Given the description of an element on the screen output the (x, y) to click on. 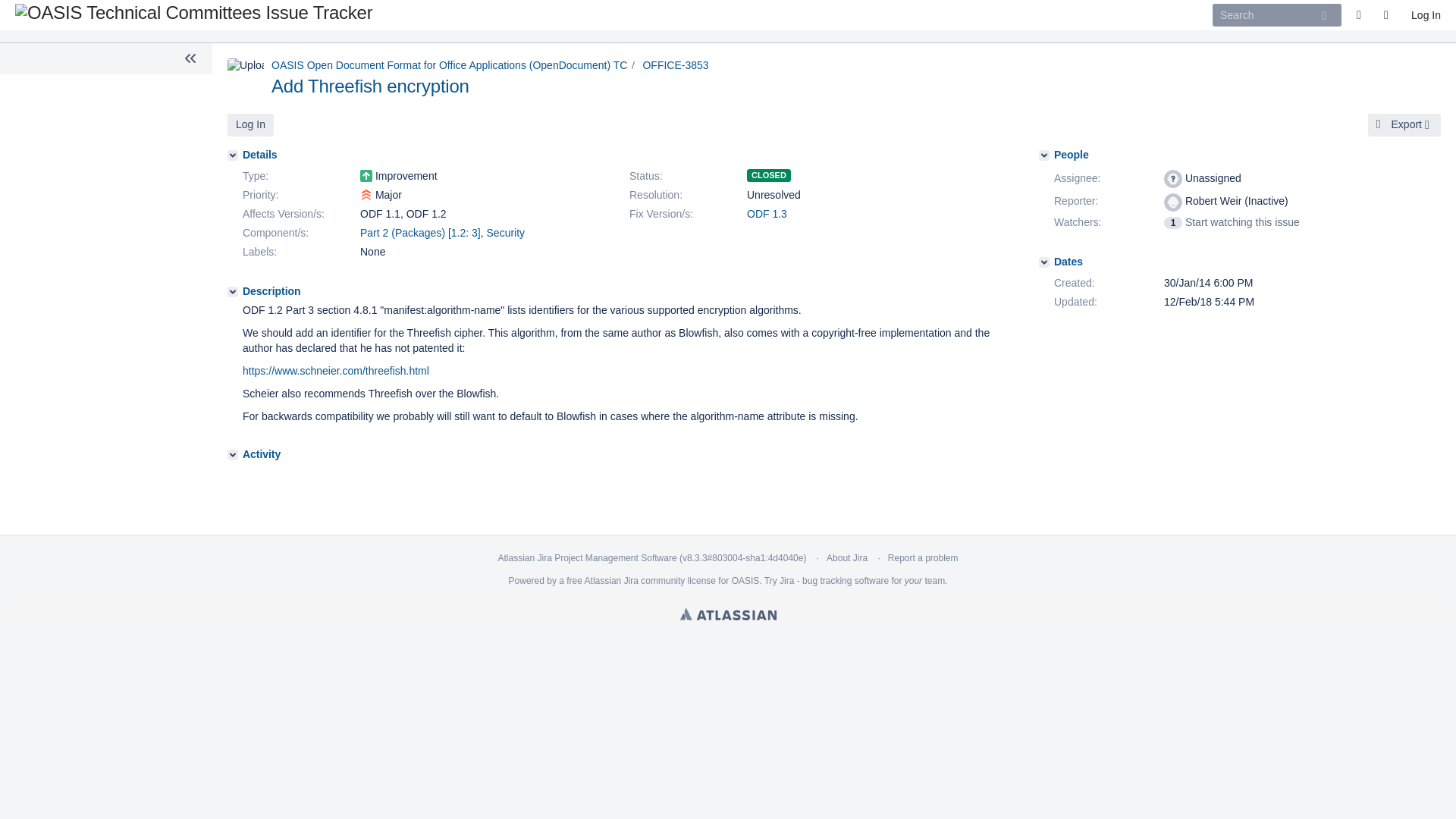
Help (1389, 15)
bug tracking software (845, 580)
Report a problem (923, 557)
ODF 1.3  (766, 214)
Log In (250, 124)
Security  (505, 232)
Help (1389, 15)
Search (1276, 15)
Log In (1425, 15)
About Jira (847, 557)
Export (1404, 124)
Jira (631, 580)
ODF 1.2  (426, 214)
ODF 1.3 (766, 214)
